Given the description of an element on the screen output the (x, y) to click on. 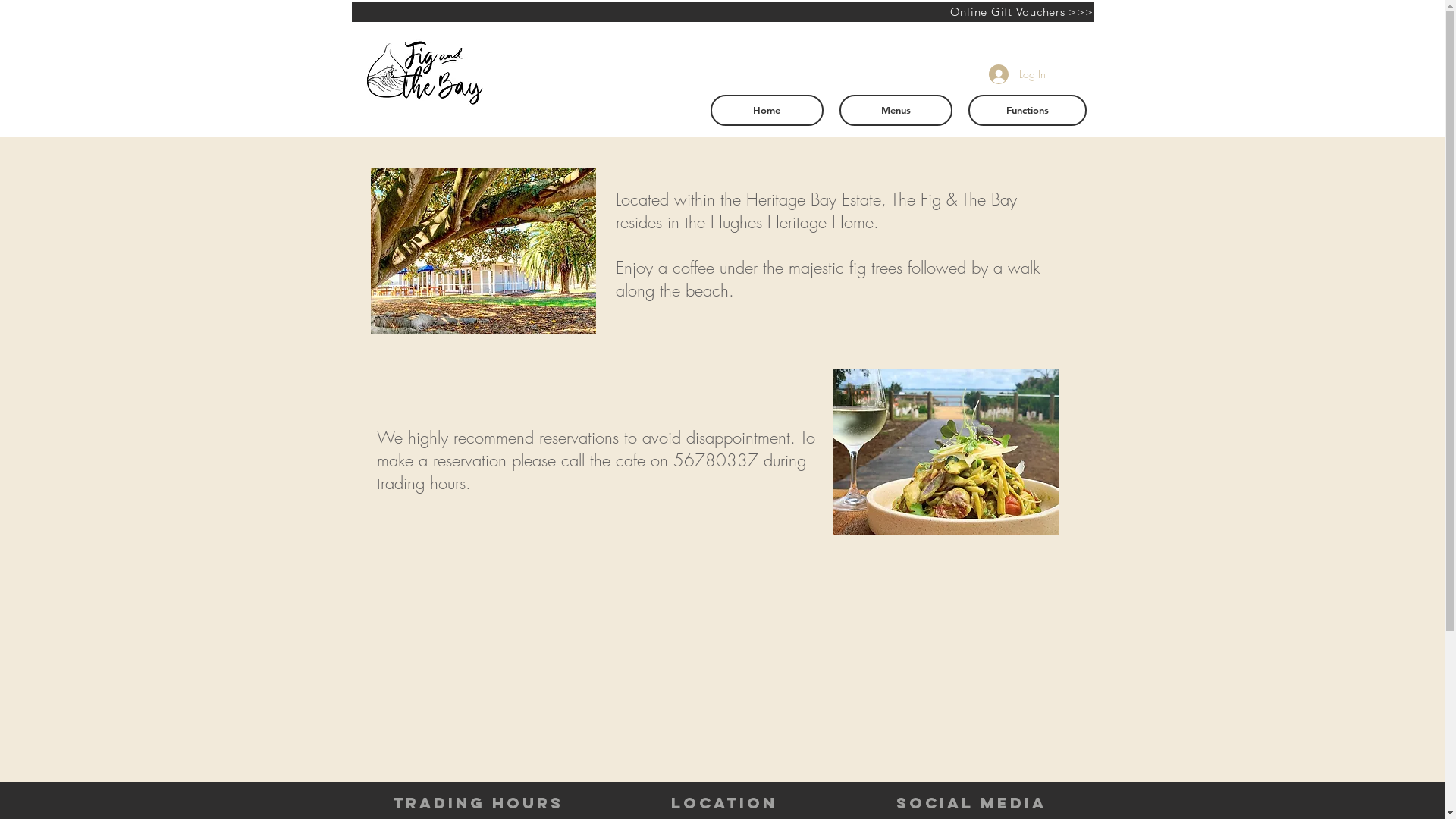
Log In Element type: text (1017, 73)
Home Element type: text (765, 109)
Menus Element type: text (894, 109)
Functions Element type: text (1026, 109)
Online Gift Vouchers >>> Element type: text (722, 11)
